Given the description of an element on the screen output the (x, y) to click on. 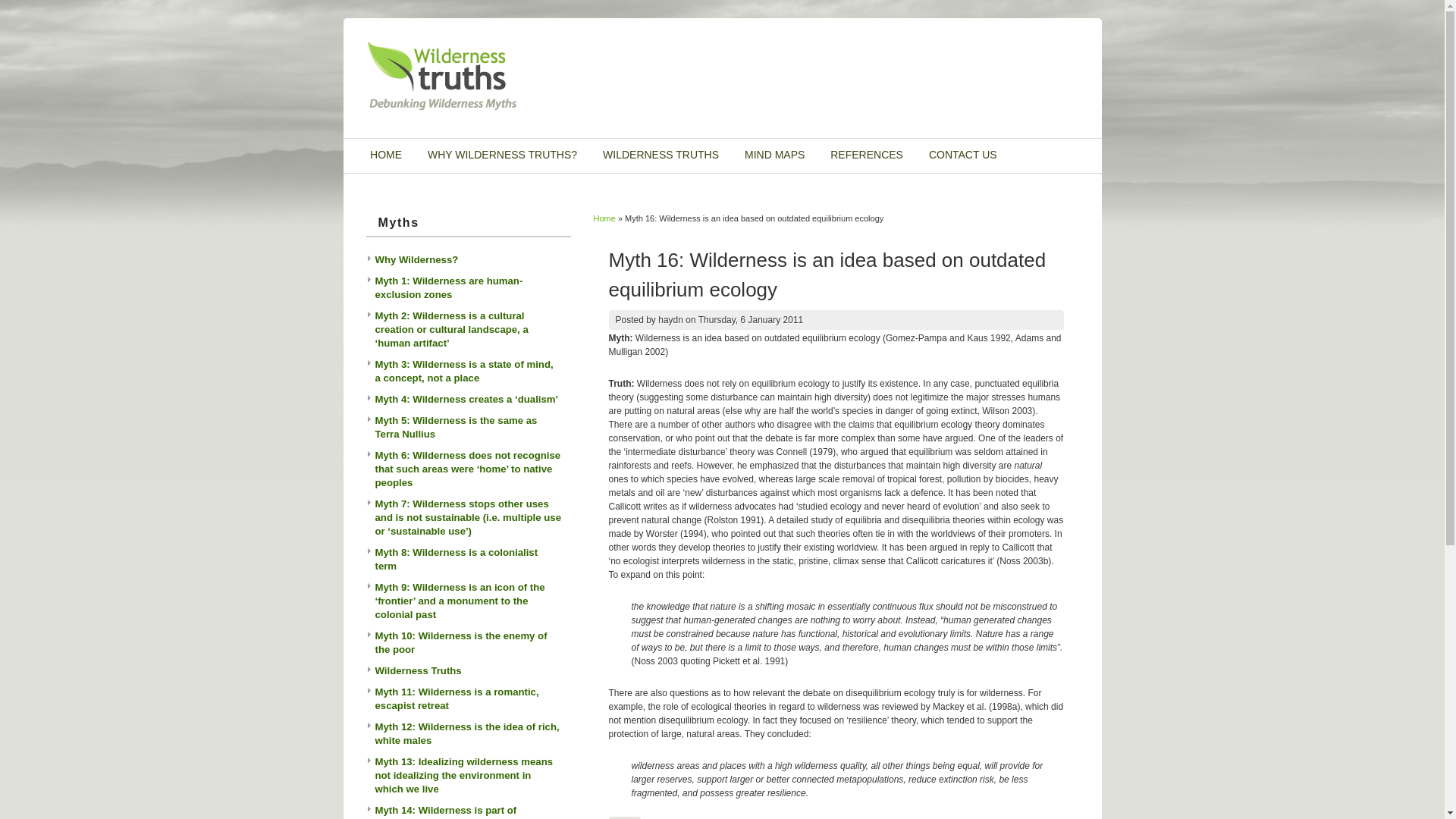
WILDERNESS TRUTHS Element type: text (660, 154)
Wilderness Truths RSS Element type: text (1065, 56)
CONTACT US Element type: text (963, 154)
Why Wilderness? Element type: text (416, 259)
Home Element type: text (604, 217)
Wilderness Truths Element type: text (417, 670)
MIND MAPS Element type: text (774, 154)
HOME Element type: text (385, 154)
Myth 8: Wilderness is a colonialist term Element type: text (455, 558)
Myth 5: Wilderness is the same as Terra Nullius Element type: text (455, 426)
Myth 10: Wilderness is the enemy of the poor Element type: text (460, 642)
Myth 1: Wilderness are human-exclusion zones Element type: text (448, 287)
WHY WILDERNESS TRUTHS? Element type: text (501, 154)
Home Element type: hover (441, 108)
Myth 12: Wilderness is the idea of rich, white males Element type: text (466, 733)
Myth 11: Wilderness is a romantic, escapist retreat Element type: text (456, 698)
REFERENCES Element type: text (866, 154)
